Given the description of an element on the screen output the (x, y) to click on. 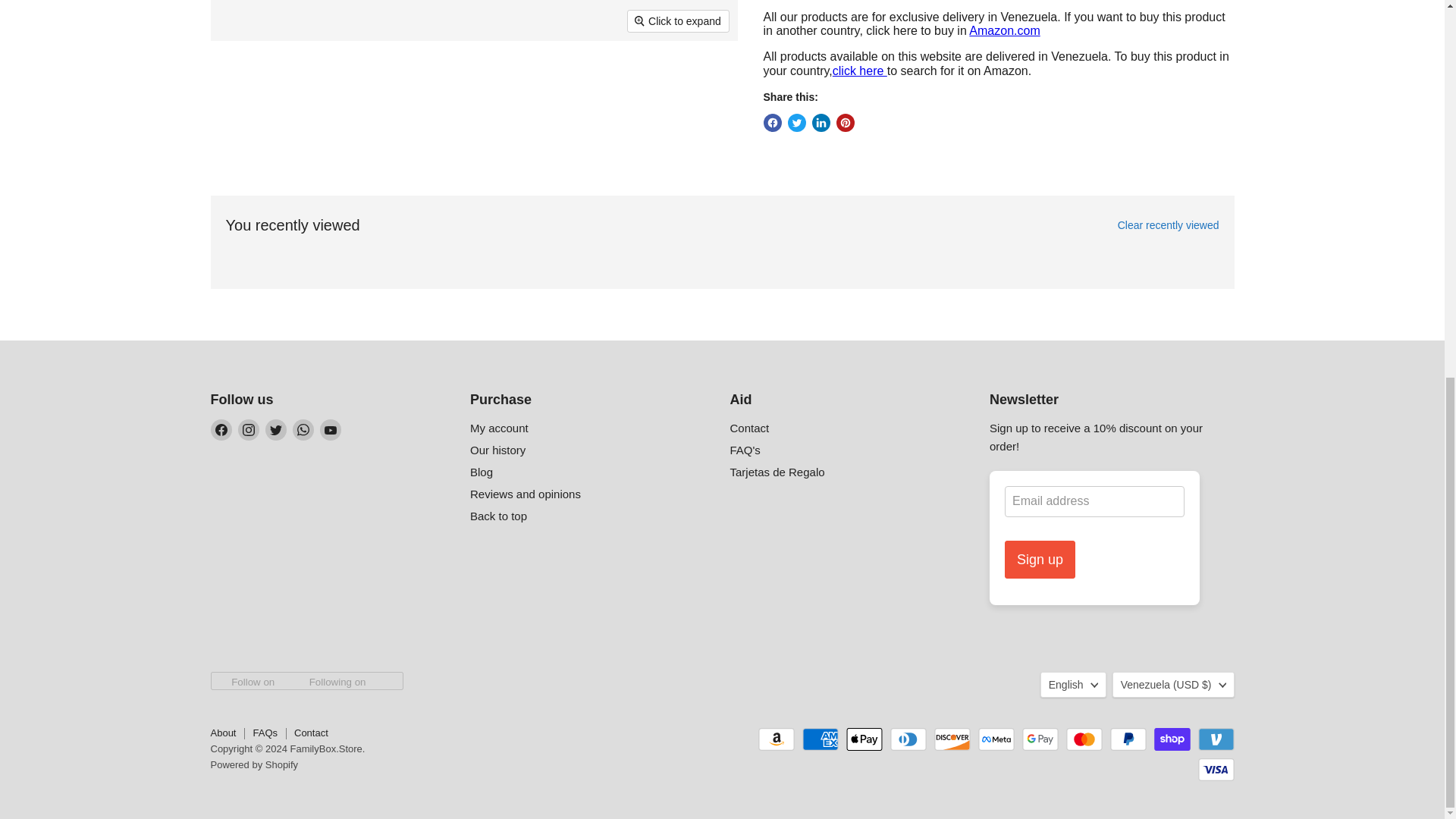
Twitter (275, 429)
YouTube (330, 429)
WhatsApp (303, 429)
Facebook (221, 429)
Instagram (248, 429)
